Given the description of an element on the screen output the (x, y) to click on. 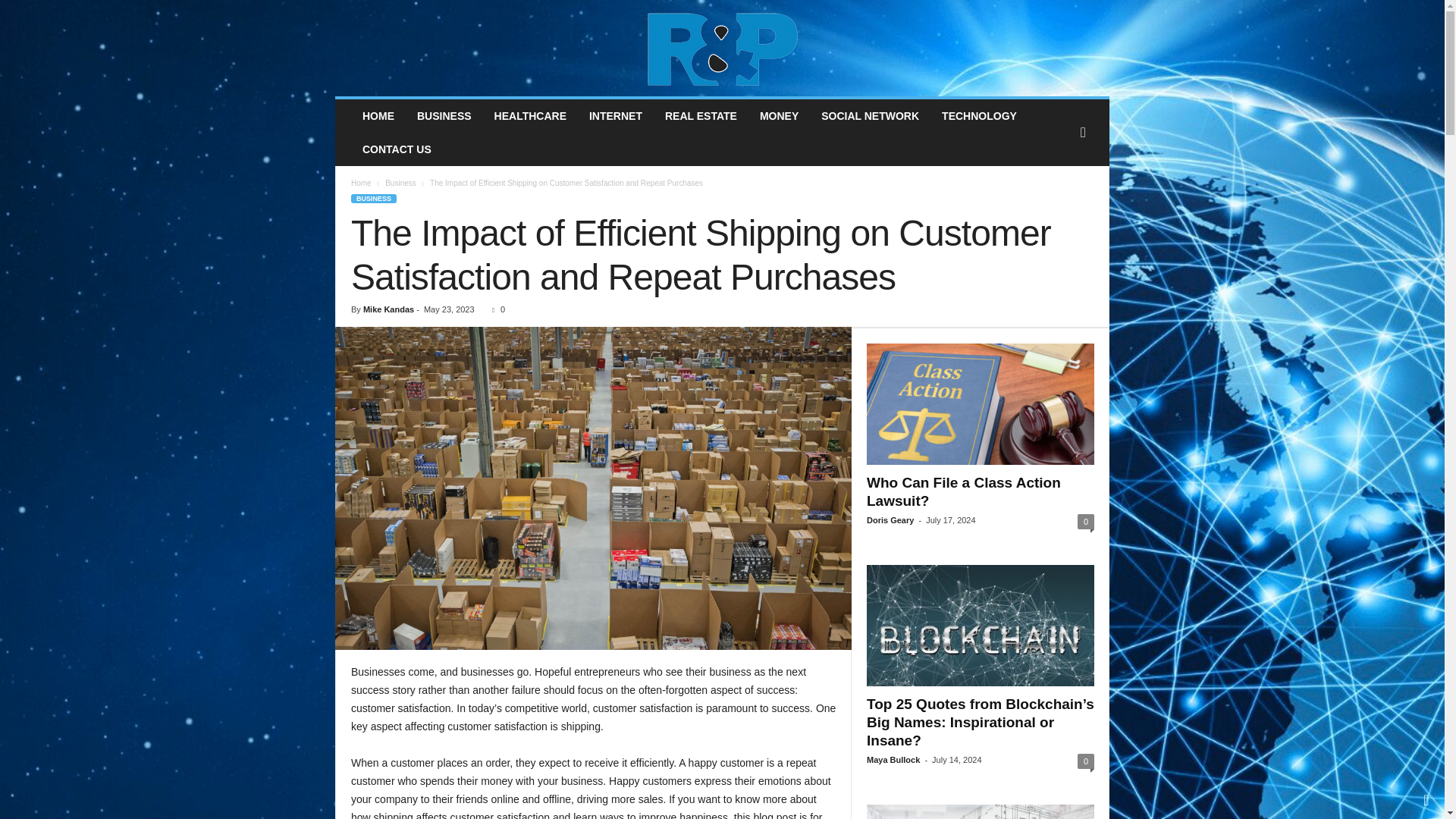
INTERNET (615, 115)
HOME (378, 115)
REAL ESTATE (700, 115)
BUSINESS (373, 198)
CONTACT US (396, 149)
0 (495, 308)
MONEY (778, 115)
TECHNOLOGY (978, 115)
View all posts in Business (400, 183)
Business (400, 183)
SOCIAL NETWORK (869, 115)
Mike Kandas (387, 308)
BUSINESS (444, 115)
Home (360, 183)
